Given the description of an element on the screen output the (x, y) to click on. 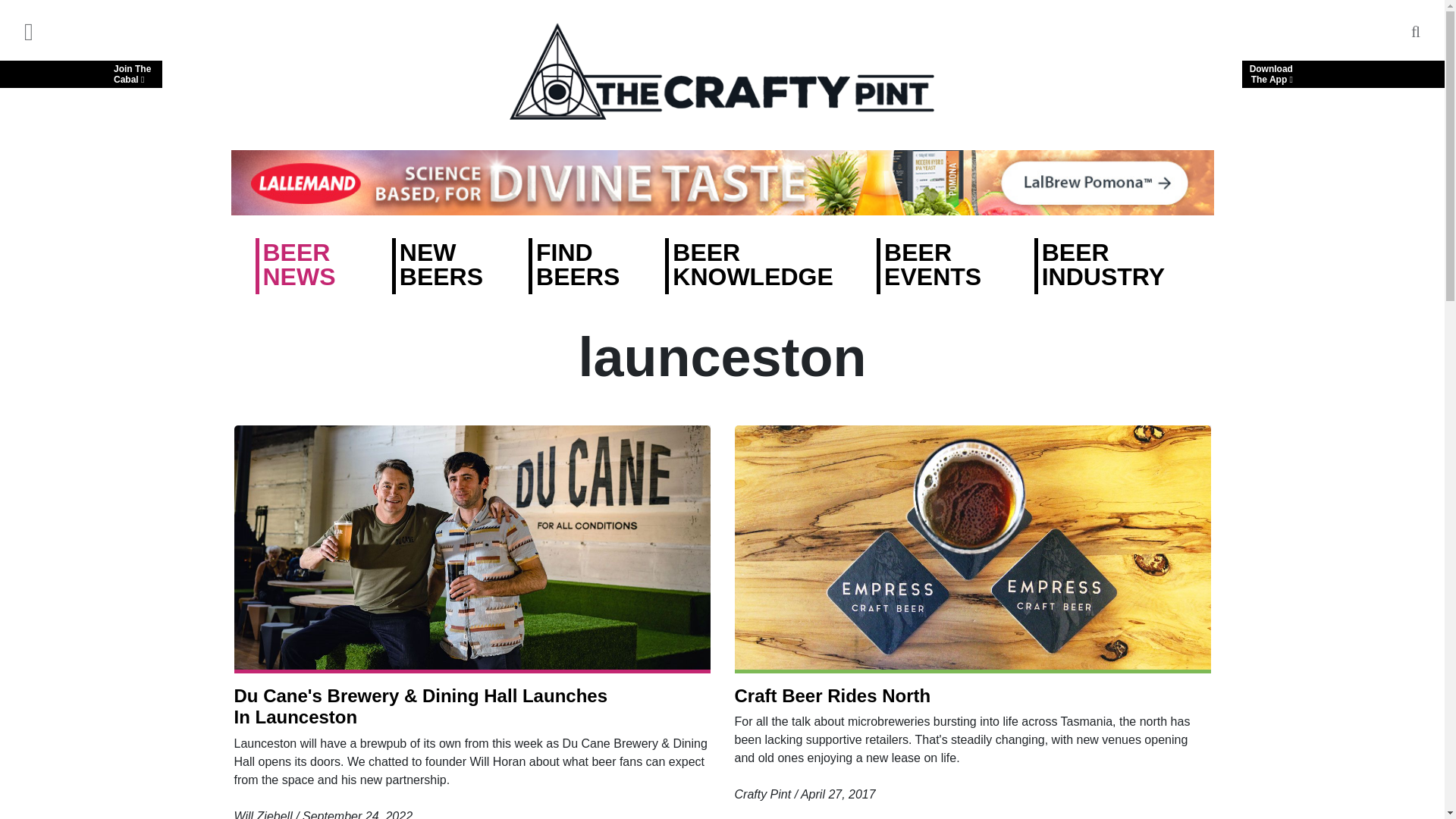
Lallemand Pomona A (721, 182)
